Given the description of an element on the screen output the (x, y) to click on. 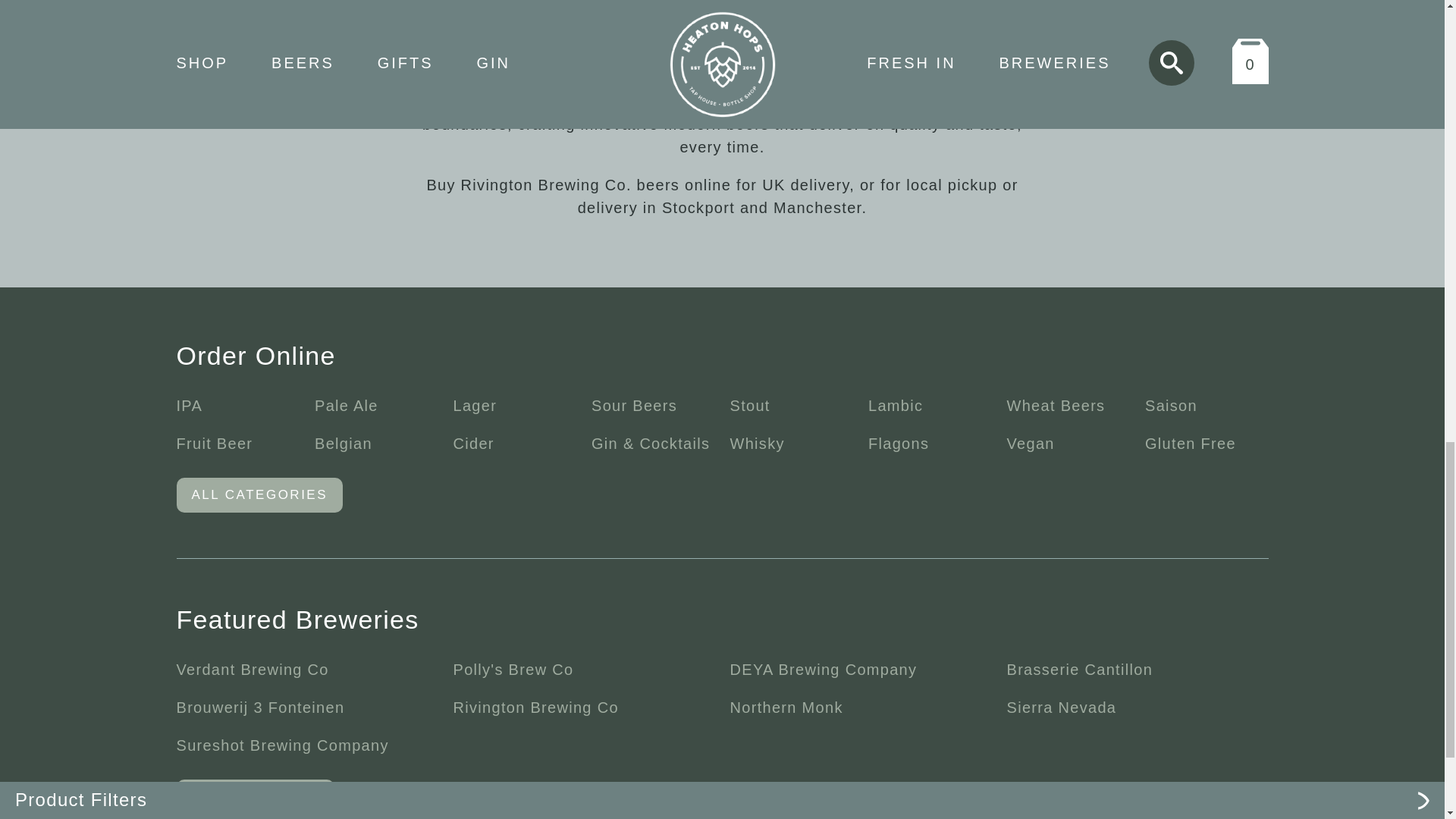
Lambic (895, 405)
Rivington Brewing Co (535, 707)
Verdant Brewing Co (252, 669)
Whisky (756, 443)
Flagons (897, 443)
Brouwerij 3 Fonteinen (259, 707)
IPAs (452, 55)
Cider (473, 443)
Gluten Free (1190, 443)
Belgian (343, 443)
